Given the description of an element on the screen output the (x, y) to click on. 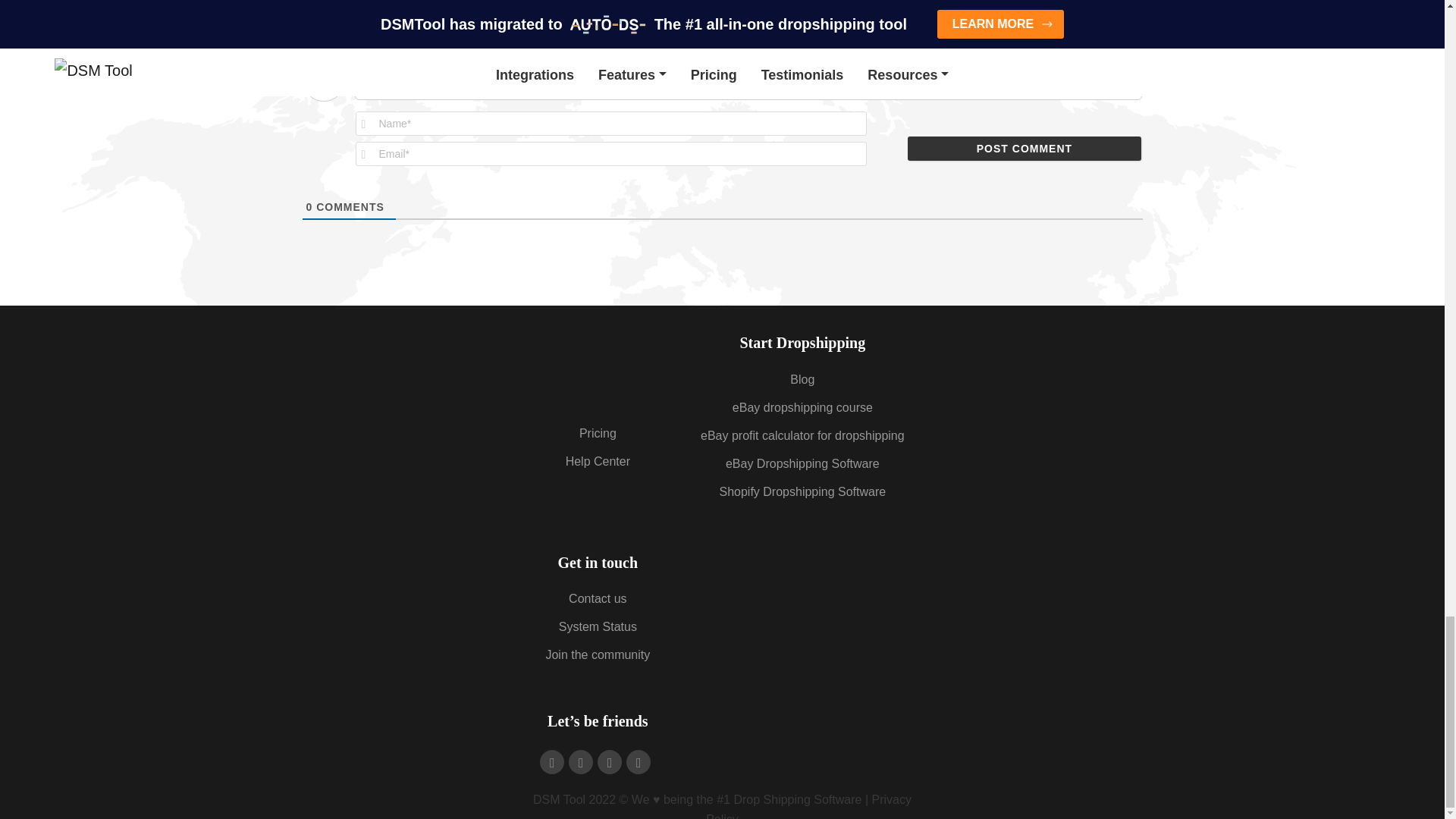
Instagram (580, 761)
LinkedIn (638, 761)
Post Comment (1023, 148)
Pricing (597, 432)
Facebook (552, 761)
Post Comment (1023, 148)
